Given the description of an element on the screen output the (x, y) to click on. 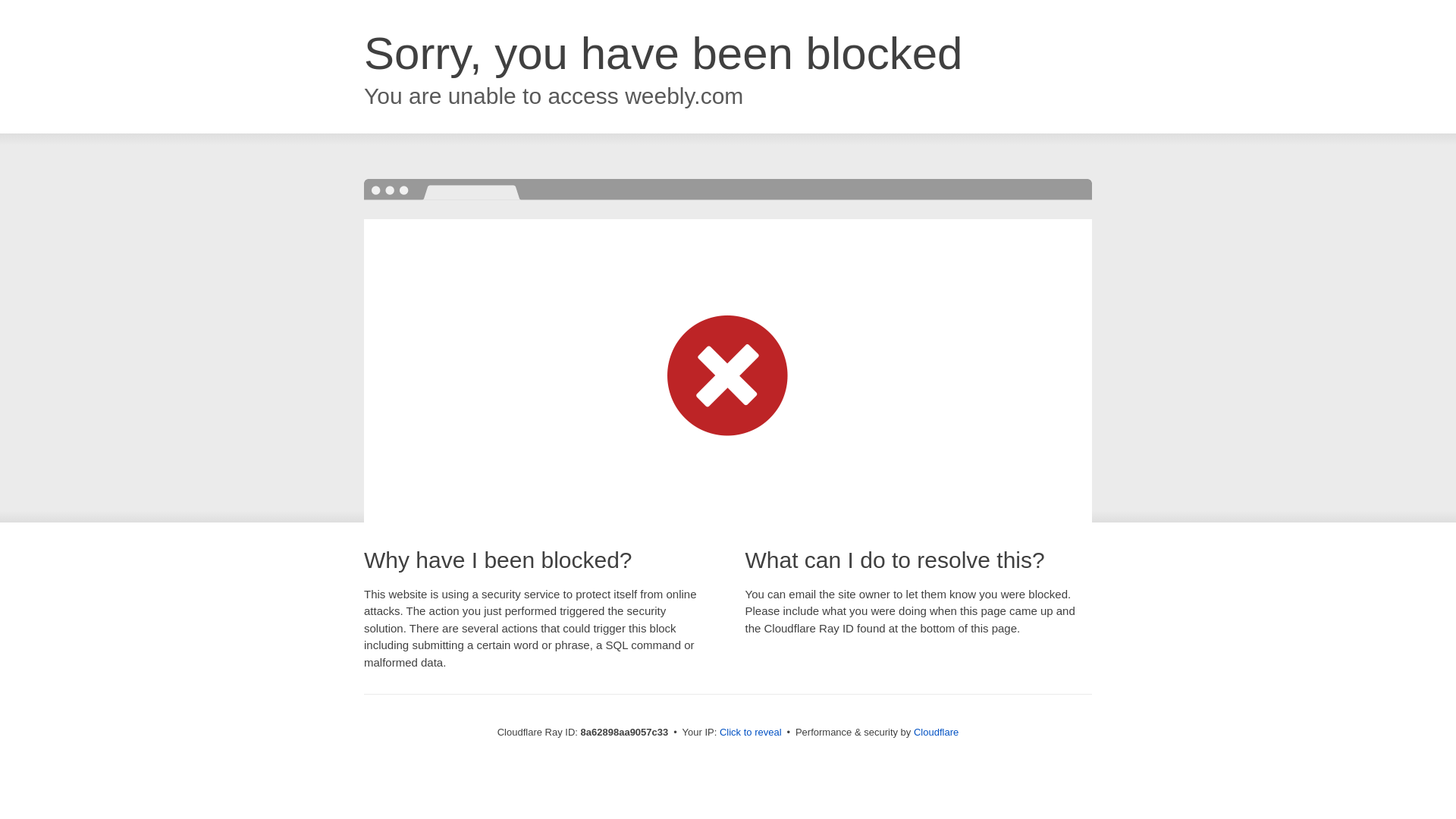
Cloudflare (936, 731)
Click to reveal (750, 732)
